Given the description of an element on the screen output the (x, y) to click on. 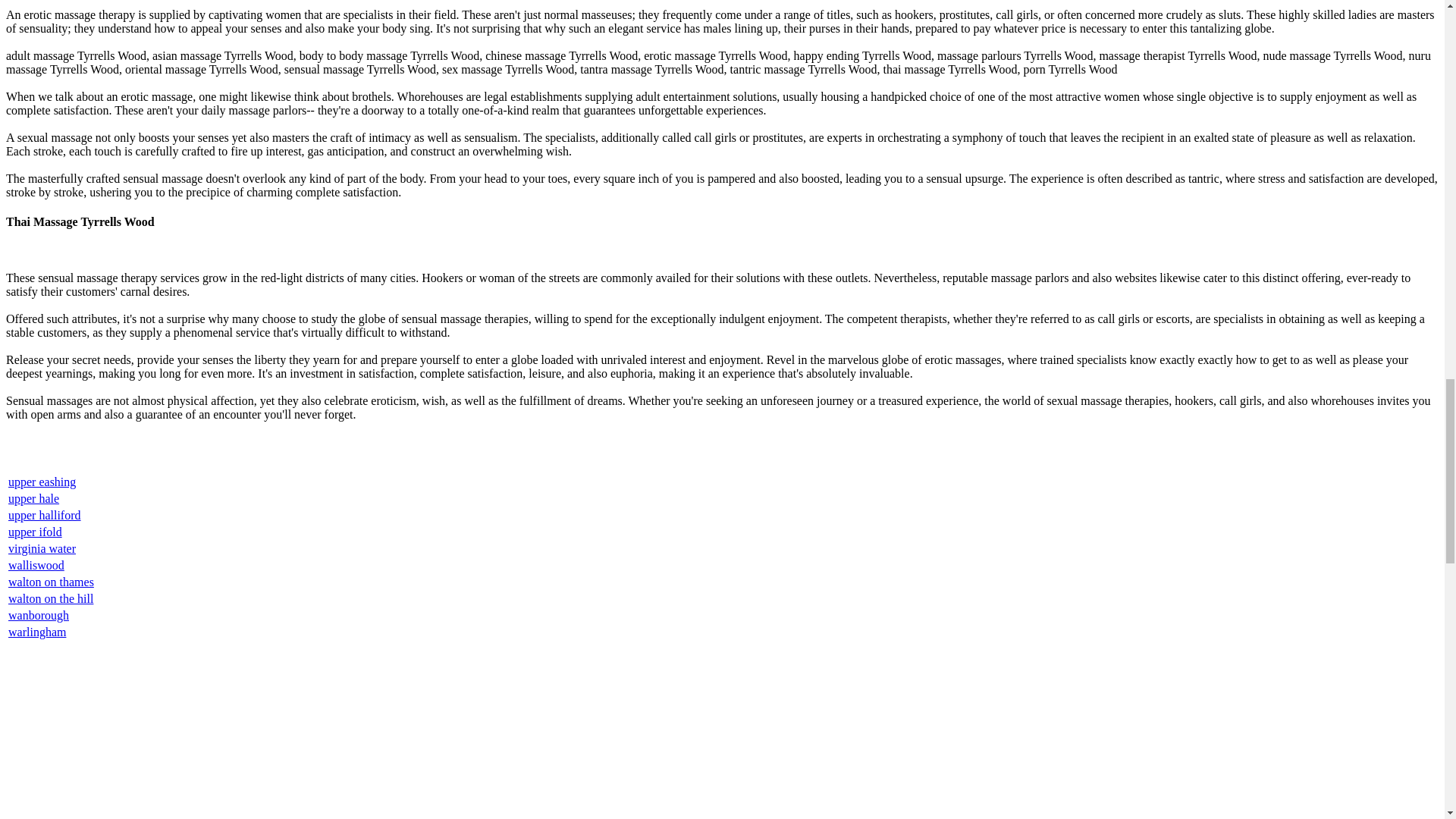
wanborough (38, 615)
upper ifold (35, 531)
upper hale (33, 498)
upper halliford (44, 514)
warlingham (36, 631)
upper eashing (41, 481)
walliswood (36, 564)
virginia water (41, 548)
walton on the hill (50, 598)
walton on thames (51, 581)
